Given the description of an element on the screen output the (x, y) to click on. 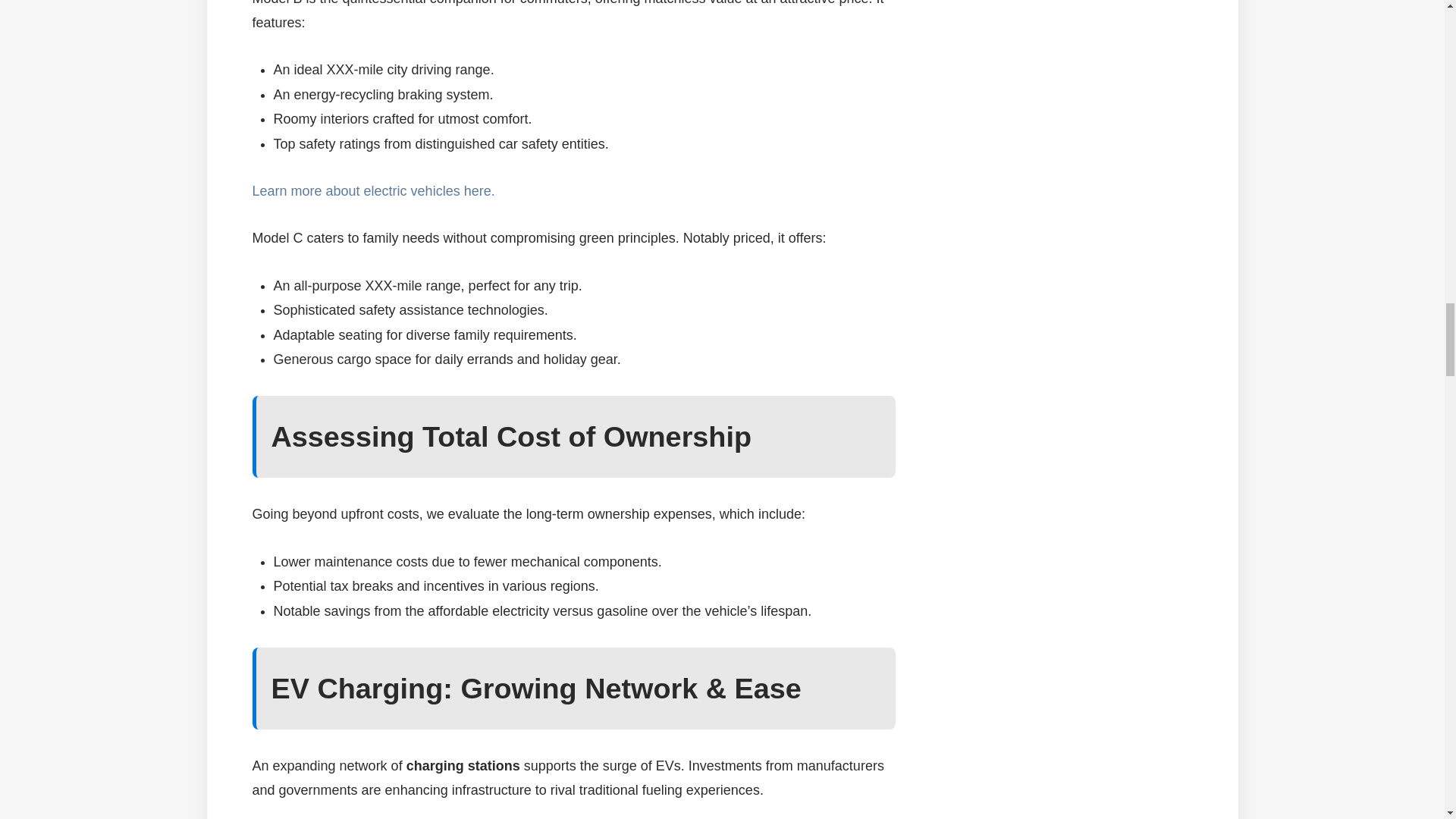
Learn more about electric vehicles here. (373, 191)
